Given the description of an element on the screen output the (x, y) to click on. 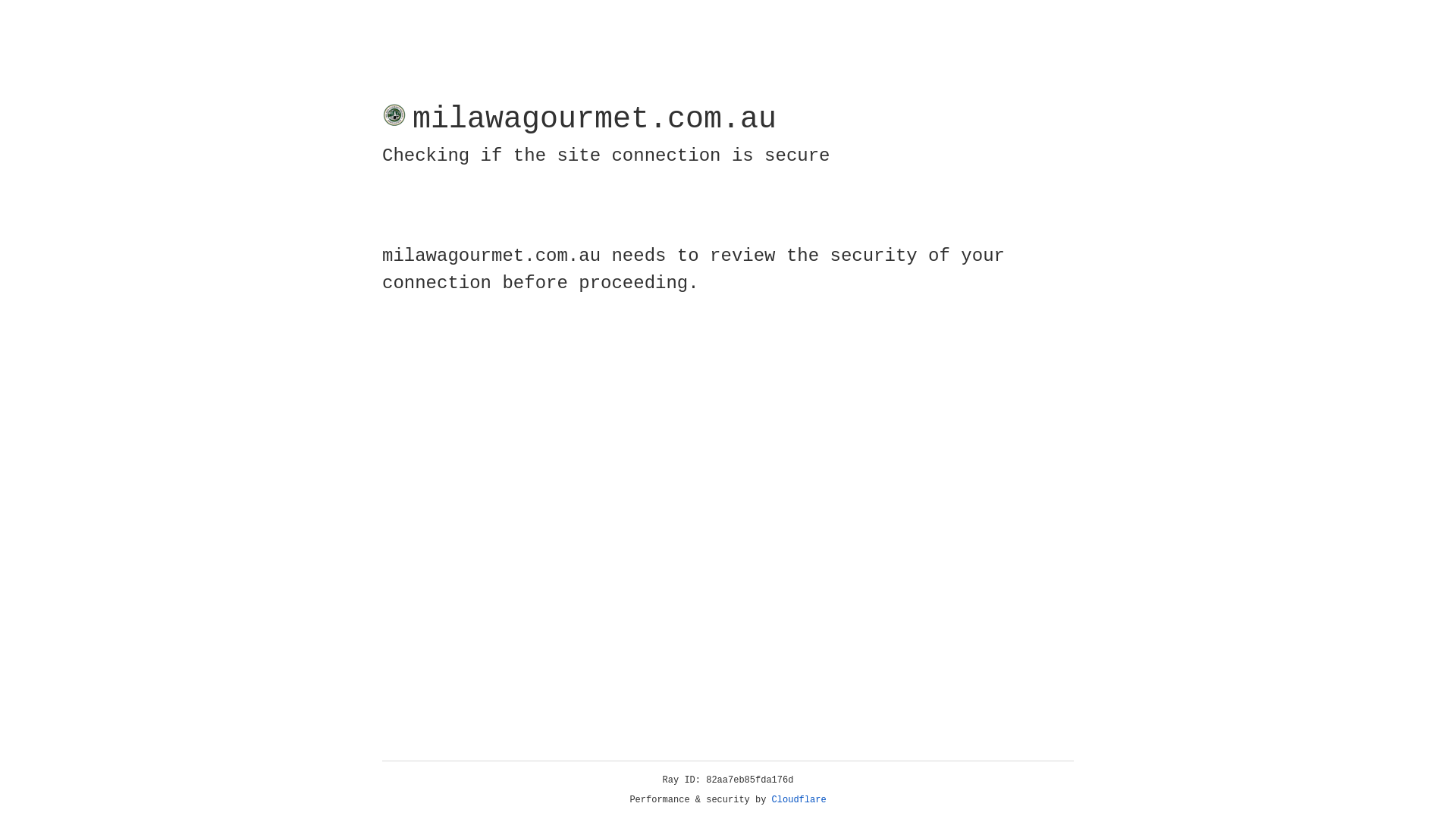
Cloudflare Element type: text (798, 799)
